Given the description of an element on the screen output the (x, y) to click on. 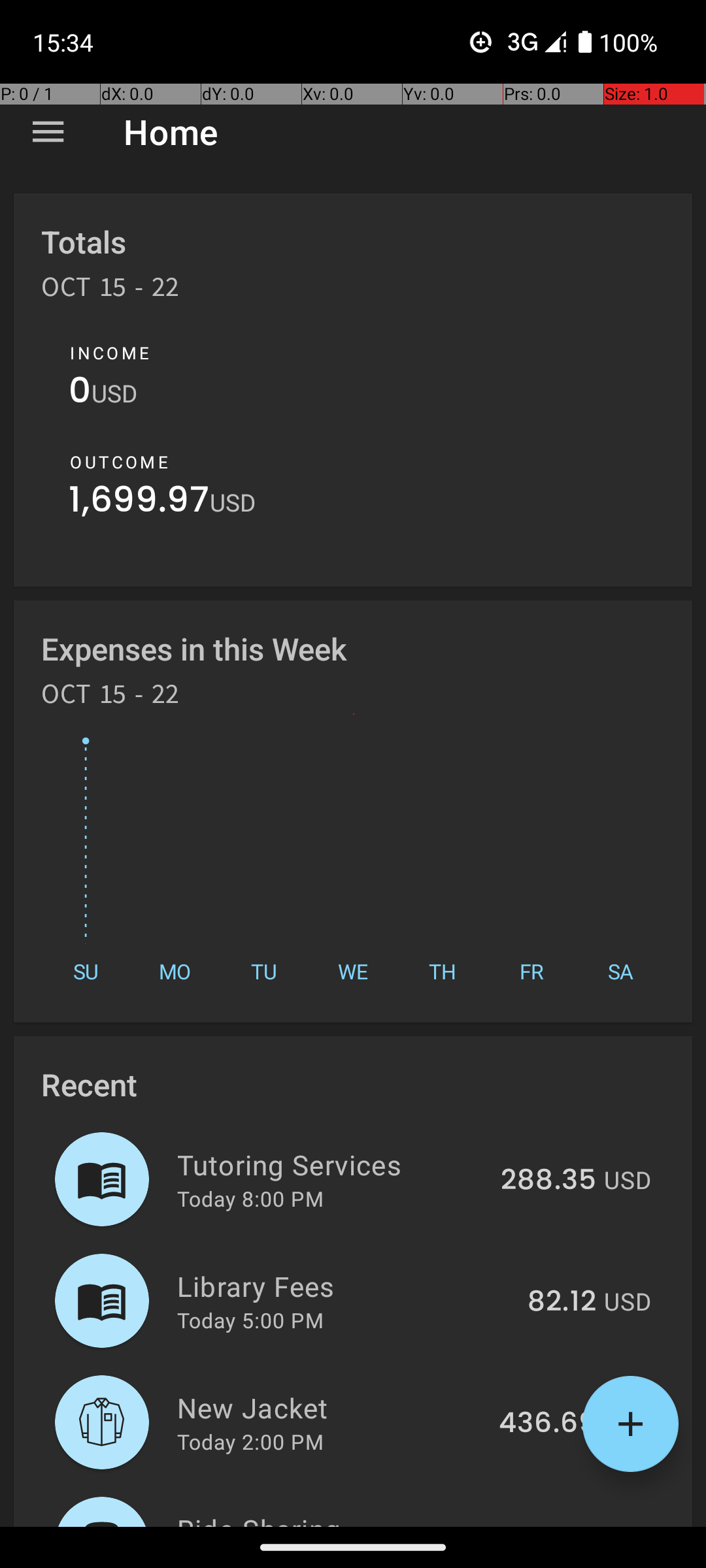
1,699.97 Element type: android.widget.TextView (138, 502)
Tutoring Services Element type: android.widget.TextView (331, 1164)
Today 8:00 PM Element type: android.widget.TextView (250, 1198)
288.35 Element type: android.widget.TextView (548, 1180)
Library Fees Element type: android.widget.TextView (344, 1285)
Today 5:00 PM Element type: android.widget.TextView (250, 1320)
82.12 Element type: android.widget.TextView (561, 1301)
New Jacket Element type: android.widget.TextView (330, 1407)
Today 2:00 PM Element type: android.widget.TextView (250, 1441)
436.69 Element type: android.widget.TextView (547, 1423)
Ride-Sharing Element type: android.widget.TextView (333, 1518)
405.15 Element type: android.widget.TextView (550, 1524)
